Given the description of an element on the screen output the (x, y) to click on. 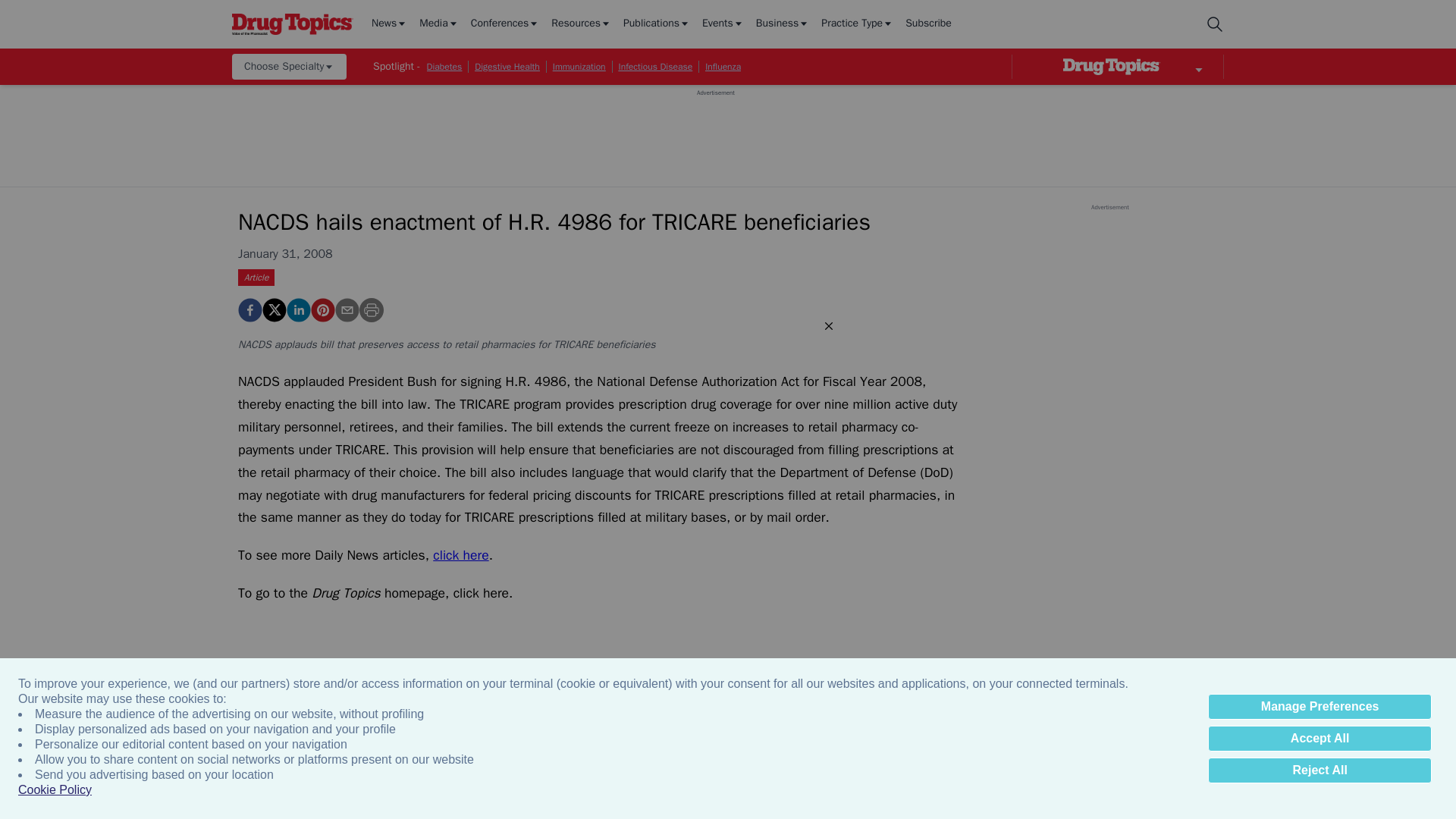
NACDS hails enactment of H.R. 4986 for TRICARE beneficiaries (322, 310)
Does Chocolate Trigger Migraines? (1168, 802)
How Pharmacists Can Provide Migraine and Headache Relief (1005, 802)
NACDS hails enactment of H.R. 4986 for TRICARE beneficiaries (250, 310)
Clinical benefits of FreeStyle Libre systems  (678, 802)
Events (722, 23)
Resources (581, 23)
Affordability of FreeStyle Libre systems  (513, 802)
Cookie Policy (54, 789)
Media (438, 23)
Manage Preferences (1319, 706)
A quick guide to the FreeStyle Libre 3 system  (350, 802)
News (389, 23)
Publications (656, 23)
Accept All (1319, 738)
